Given the description of an element on the screen output the (x, y) to click on. 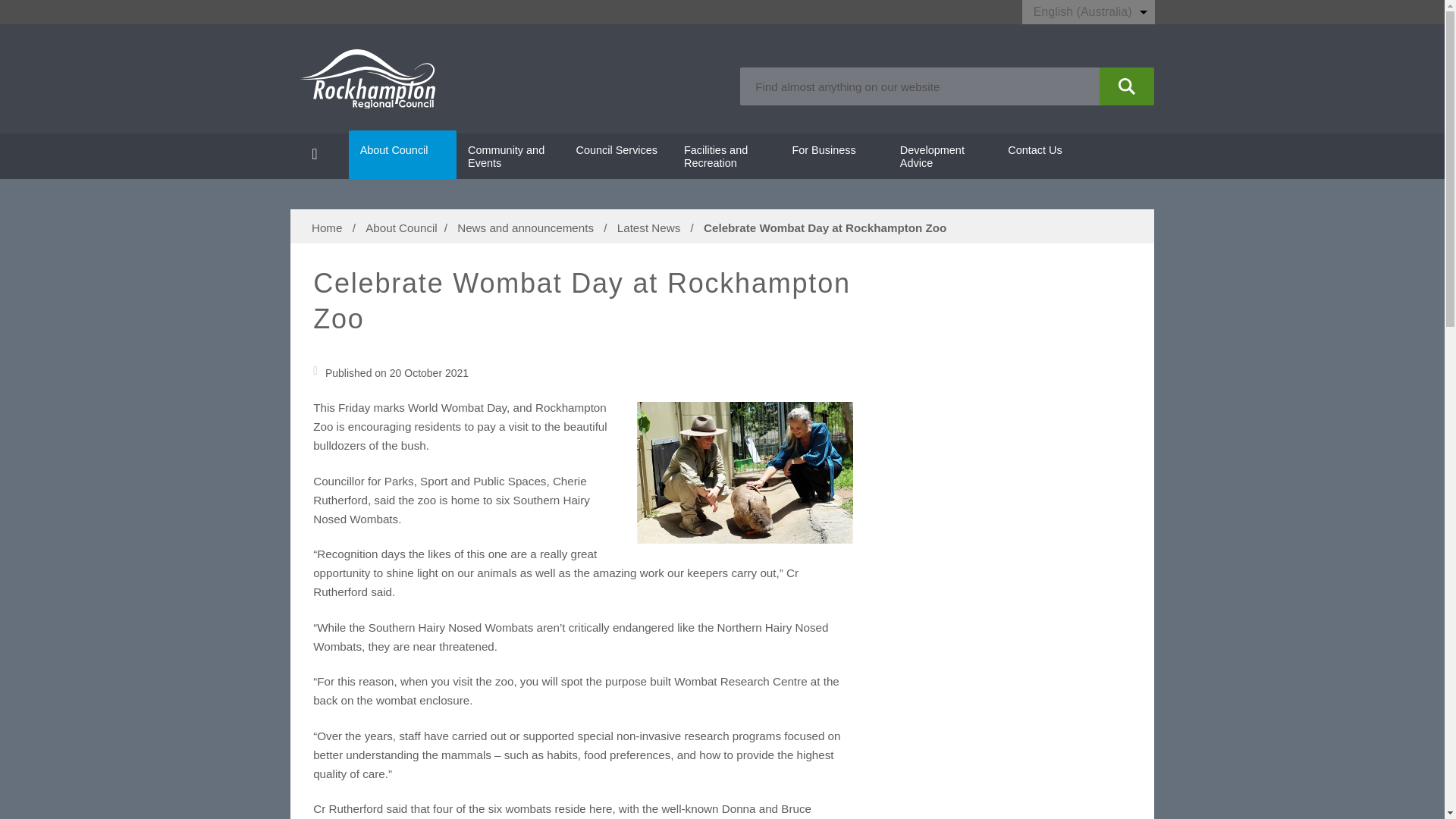
Search (1126, 86)
Search (1126, 86)
Home (319, 156)
Sub-menu (437, 151)
About Council (403, 156)
Search (1126, 86)
Rockhampton Regional Council - Home - Logo (367, 78)
